Given the description of an element on the screen output the (x, y) to click on. 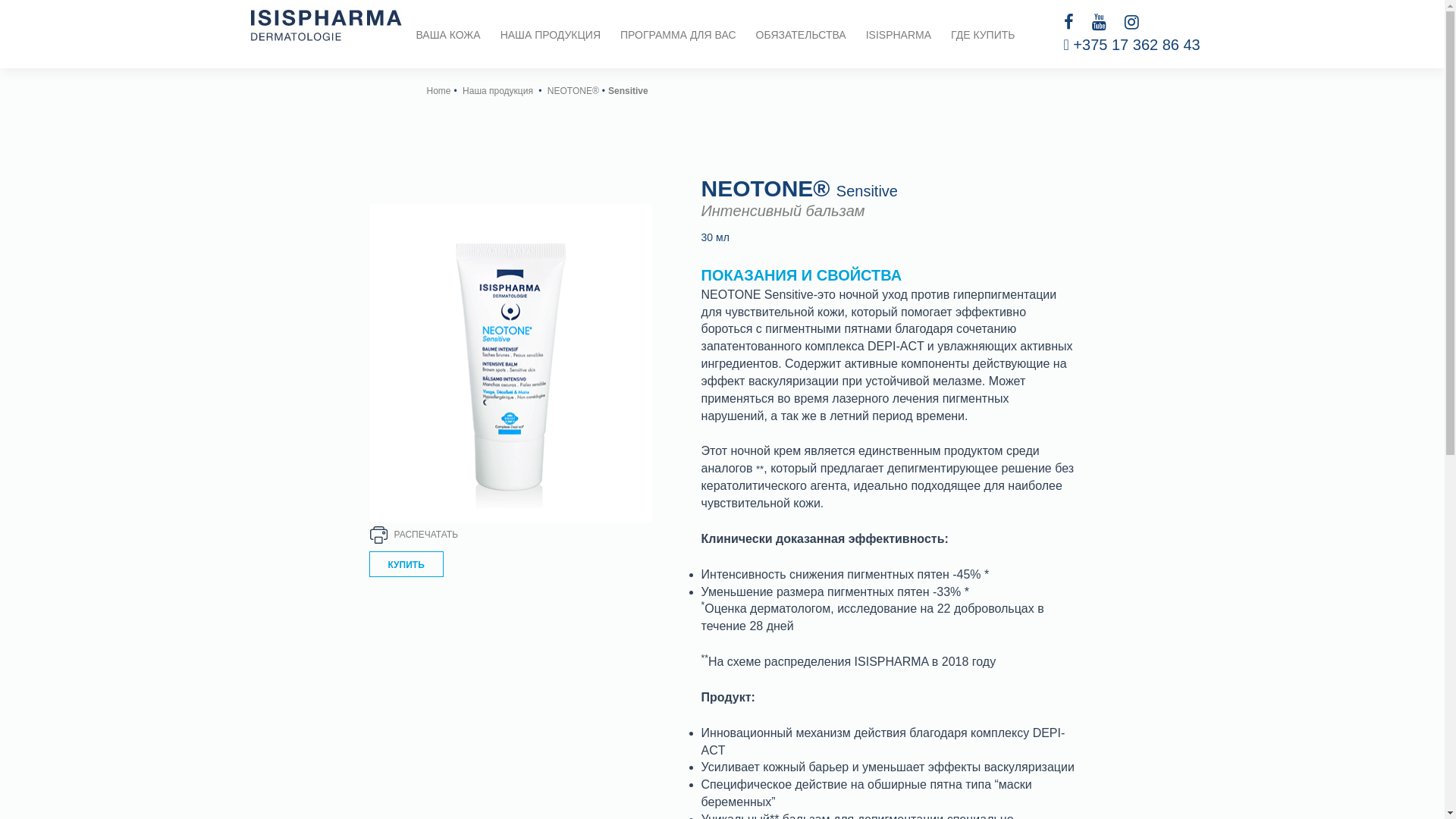
ISISPHARMA Element type: text (898, 34)
Home Element type: text (438, 90)
Sensitive Element type: text (628, 90)
